Given the description of an element on the screen output the (x, y) to click on. 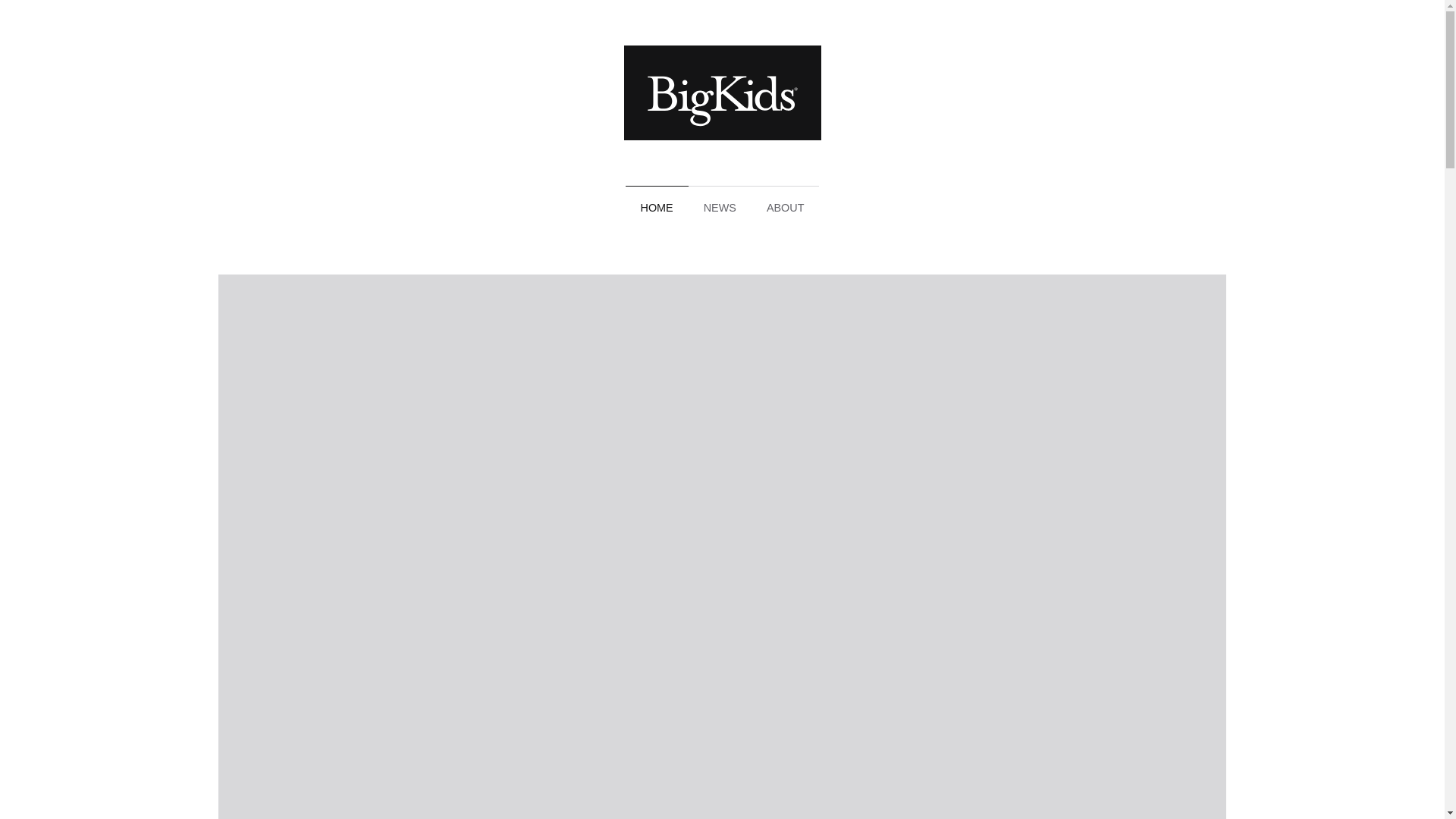
ABOUT Element type: text (785, 207)
BigKids, photographer Element type: text (721, 92)
NEWS Element type: text (719, 207)
HOME Element type: text (656, 207)
